Given the description of an element on the screen output the (x, y) to click on. 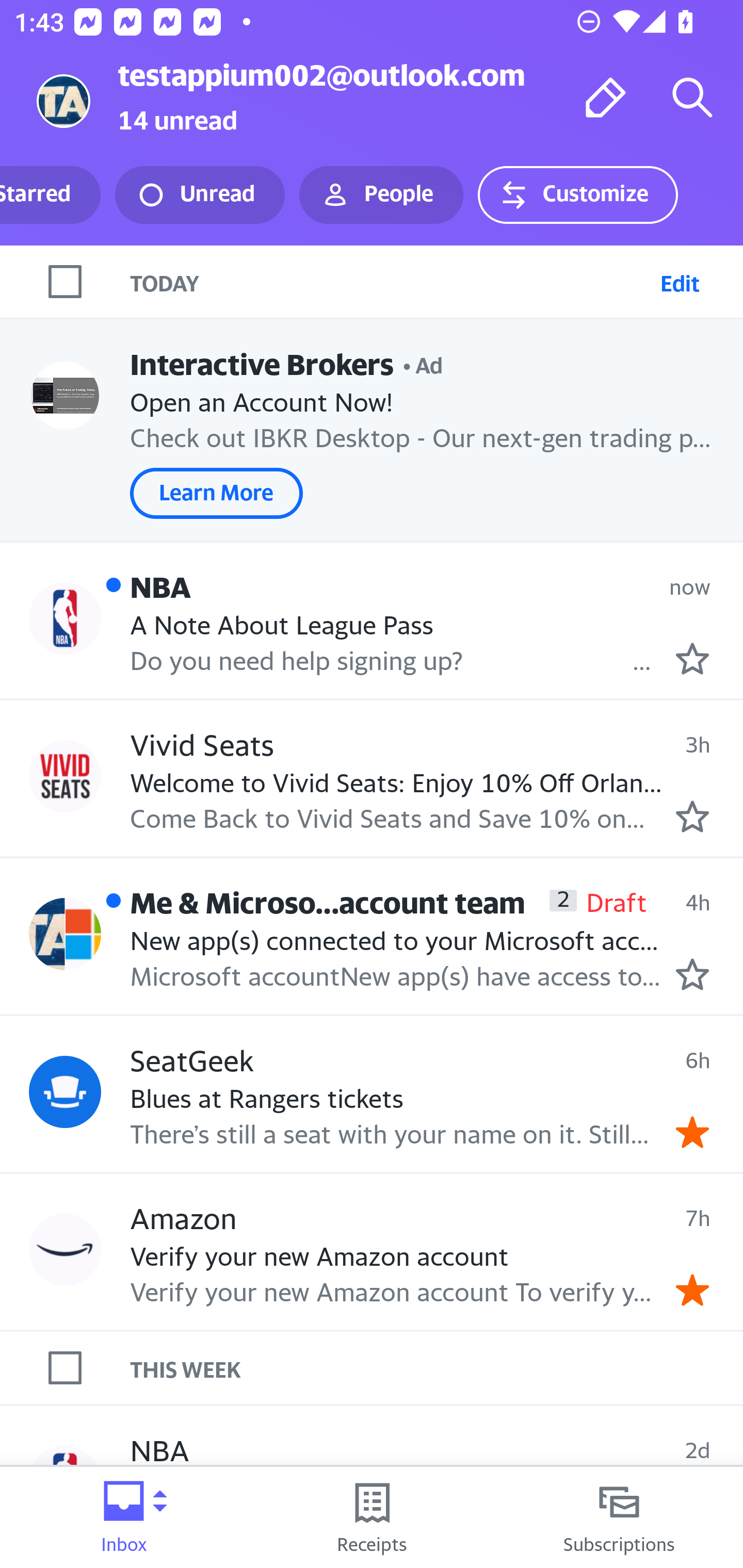
Compose (605, 97)
Search mail (692, 97)
Unread (199, 195)
People (381, 195)
Customize (577, 195)
TODAY (391, 281)
Edit Select emails (679, 281)
Profile
NBA (64, 617)
Mark as starred. (692, 659)
Profile
Vivid Seats (64, 776)
Mark as starred. (692, 816)
Profile
Me & Microsoft account team (64, 934)
Mark as starred. (692, 974)
Profile
SeatGeek (64, 1091)
Remove star. (692, 1132)
Profile
Amazon (64, 1249)
Remove star. (692, 1289)
THIS WEEK (436, 1367)
Inbox Folder picker (123, 1517)
Receipts (371, 1517)
Subscriptions (619, 1517)
